Given the description of an element on the screen output the (x, y) to click on. 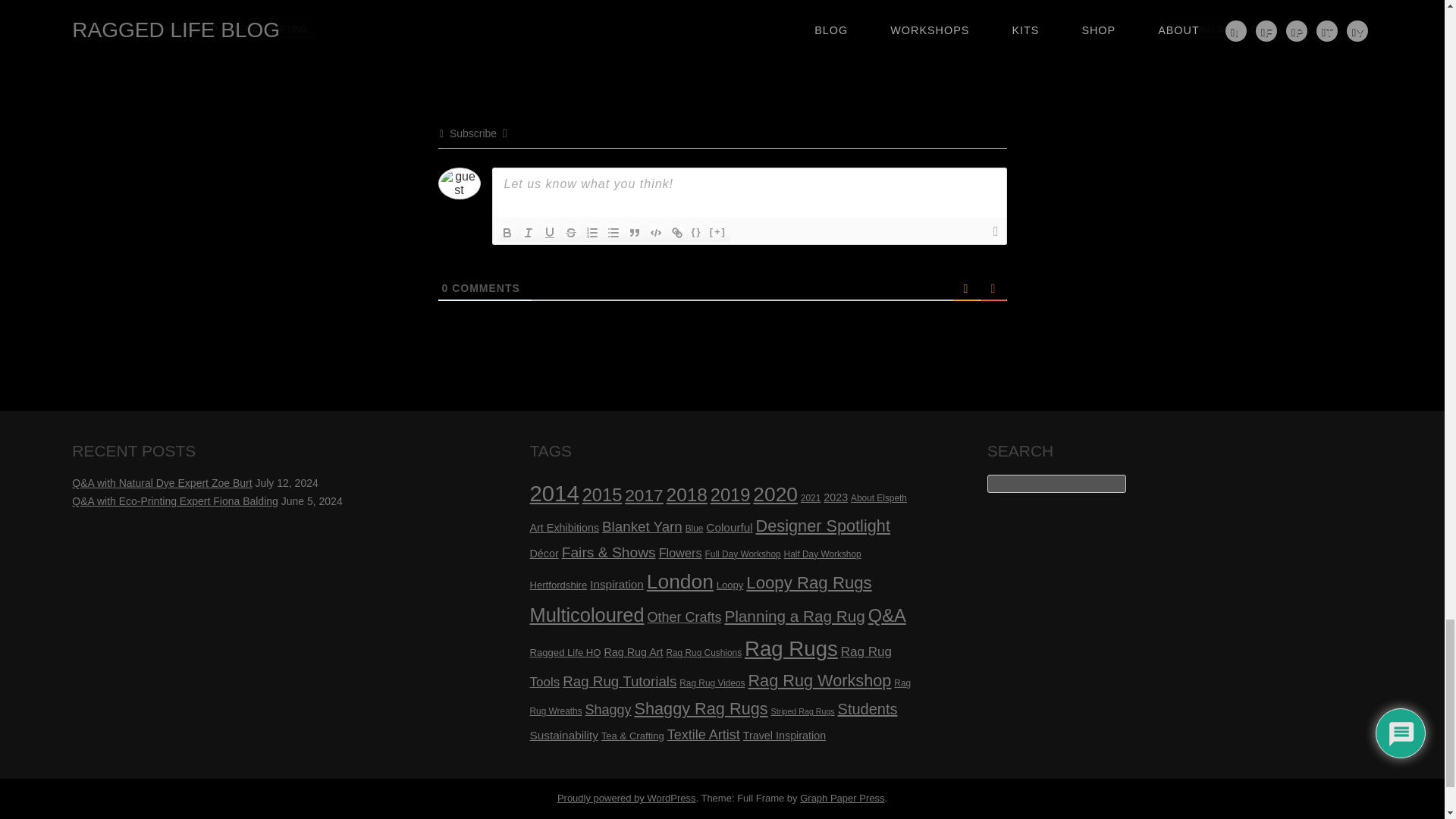
Spoiler (718, 232)
Underline (548, 232)
Bold (506, 232)
Link (676, 232)
Blockquote (634, 232)
Unordered List (612, 232)
Strike (569, 232)
Ordered List (591, 232)
Italic (527, 232)
Code Block (655, 232)
Source Code (695, 232)
